Given the description of an element on the screen output the (x, y) to click on. 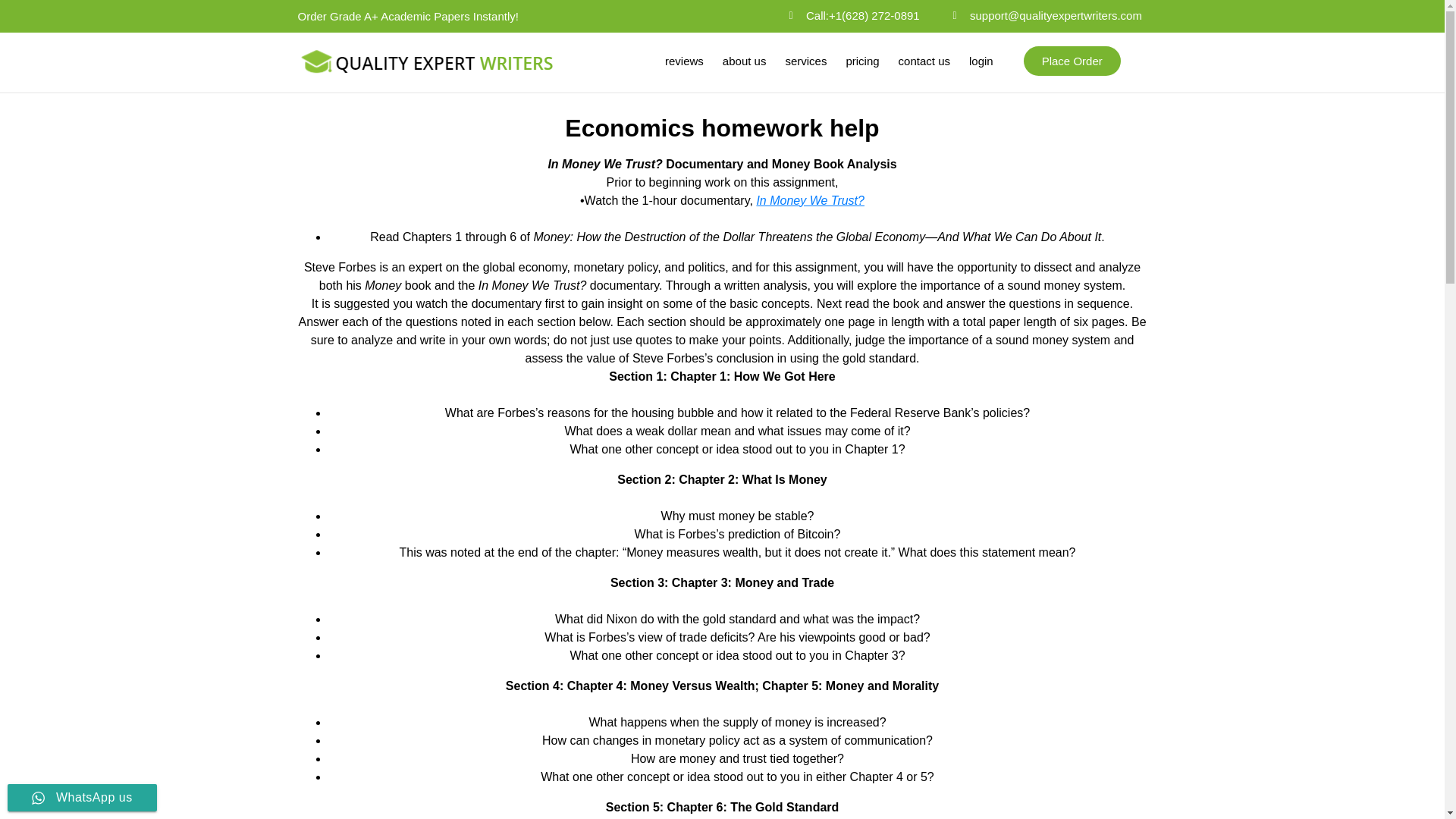
about us (744, 61)
In Money We Trust? (809, 200)
login (981, 61)
Place Order (1072, 60)
reviews (684, 61)
contact us (924, 61)
services (805, 61)
pricing (861, 61)
